Given the description of an element on the screen output the (x, y) to click on. 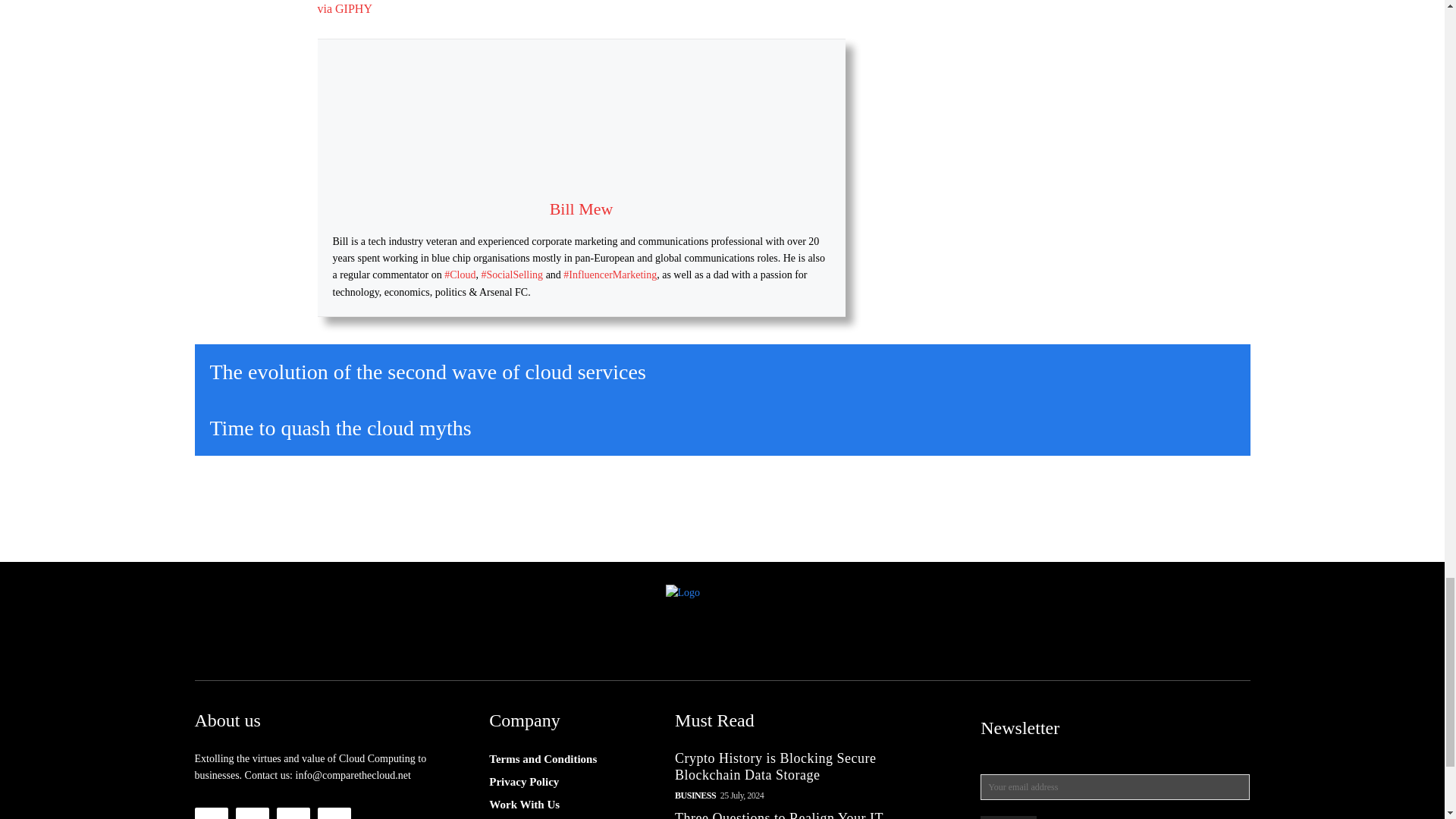
Sign up (1007, 817)
